Given the description of an element on the screen output the (x, y) to click on. 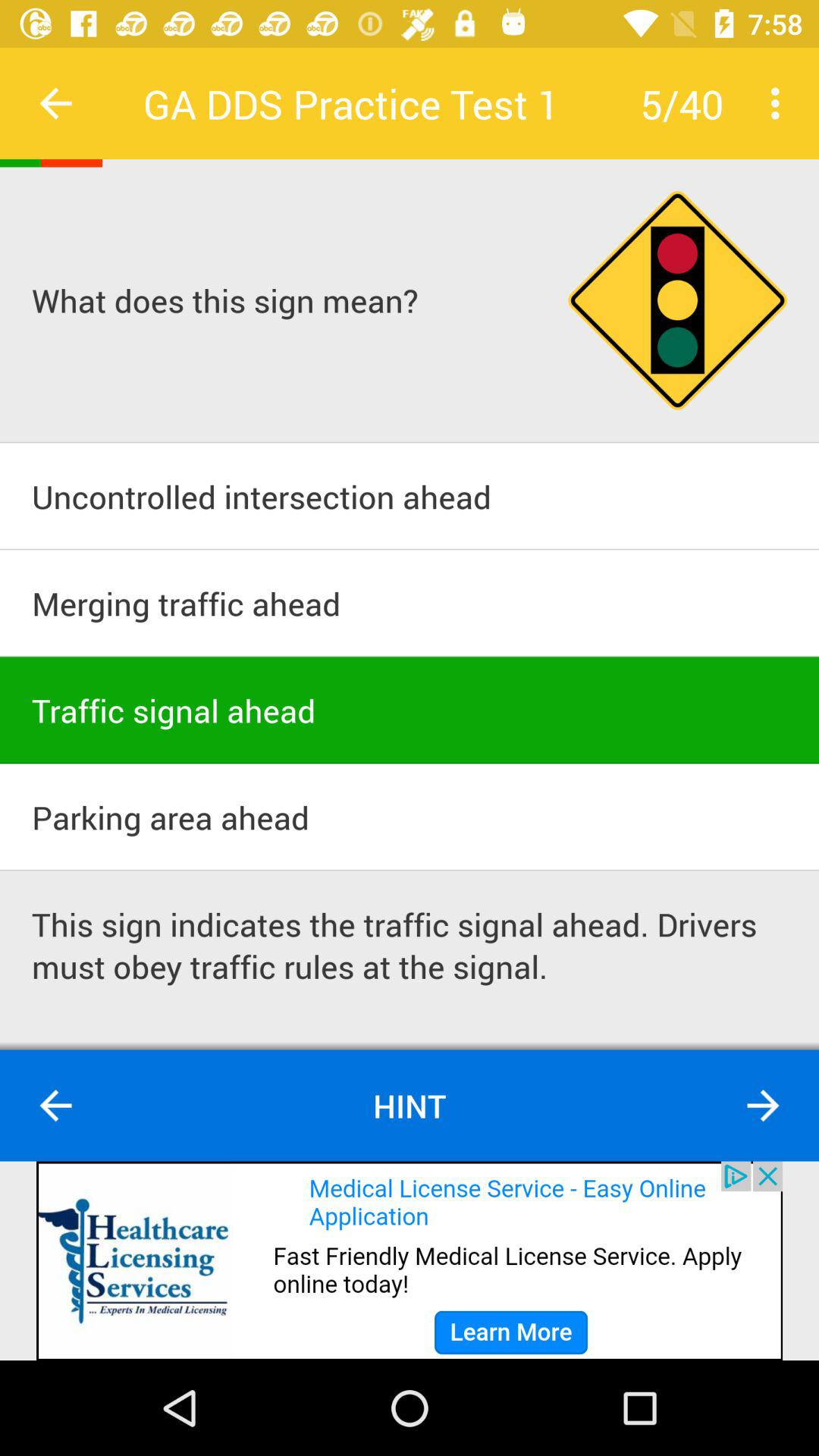
previous page (55, 103)
